Given the description of an element on the screen output the (x, y) to click on. 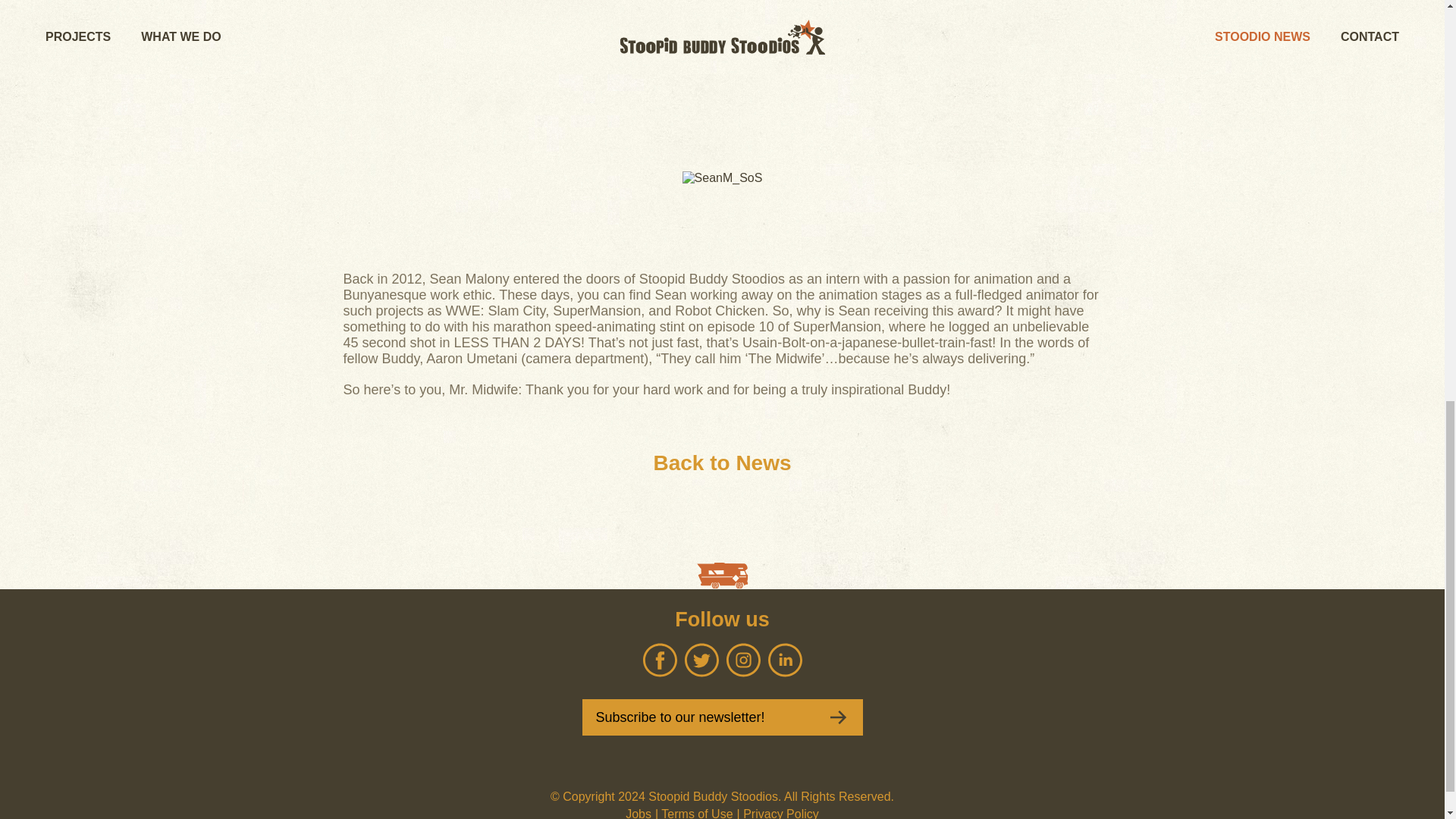
Jobs (638, 812)
Privacy Policy (780, 812)
Terms of Use (696, 812)
Back to News (721, 463)
